Given the description of an element on the screen output the (x, y) to click on. 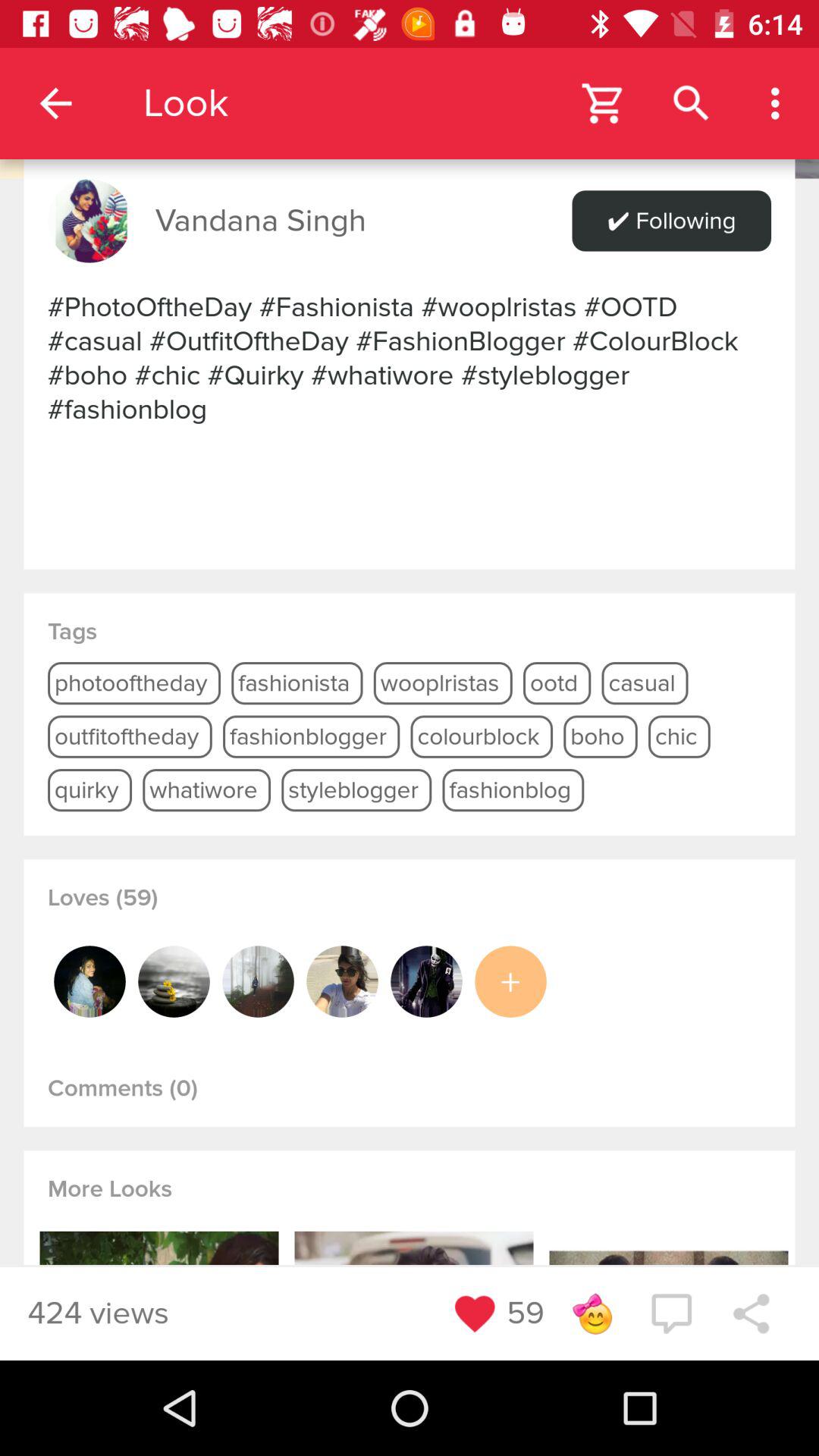
share content on social media (751, 1313)
